Given the description of an element on the screen output the (x, y) to click on. 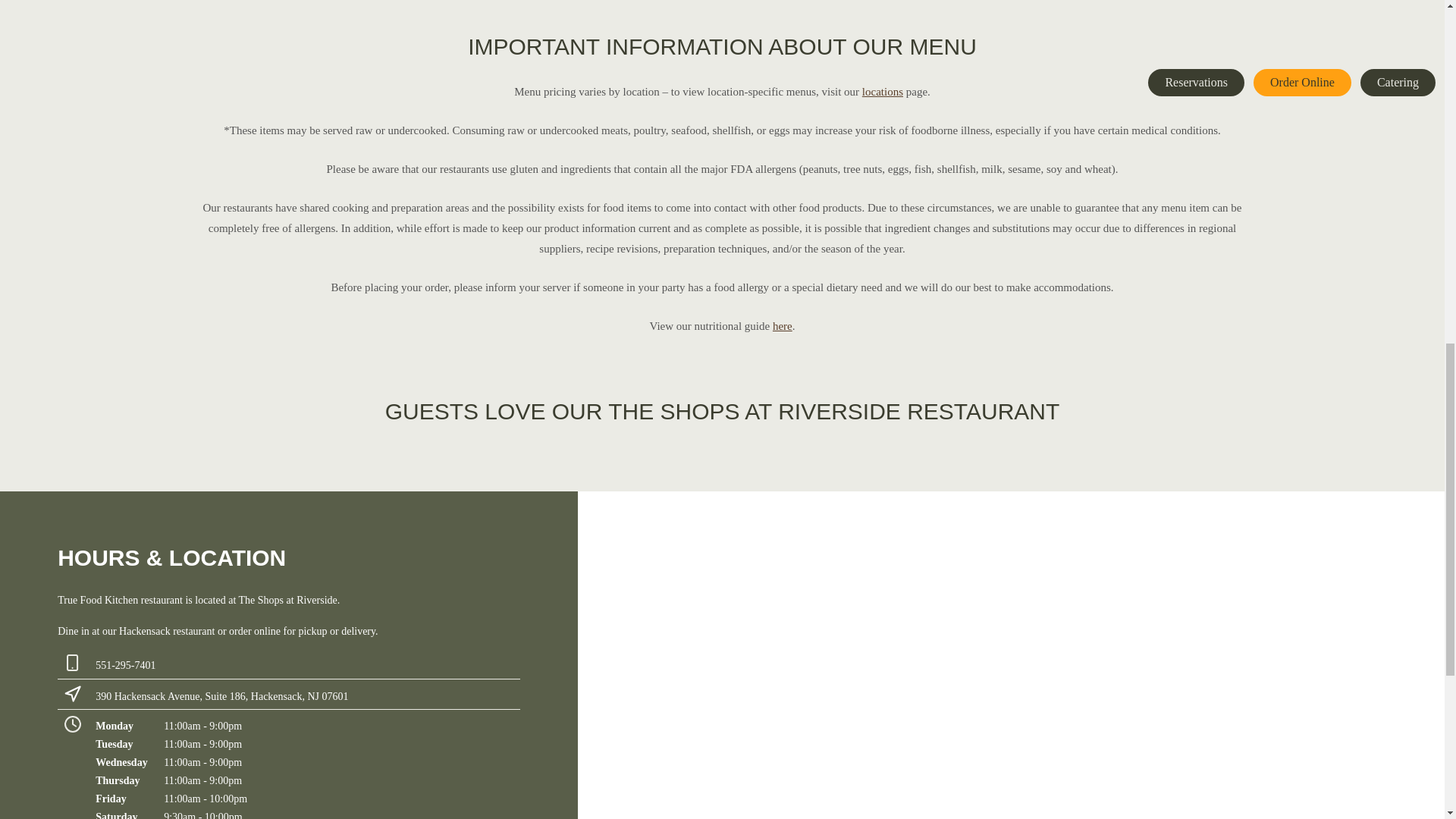
here (782, 326)
390 Hackensack Avenue, Suite 186, Hackensack, NJ 07601 (221, 696)
locations (881, 91)
